Given the description of an element on the screen output the (x, y) to click on. 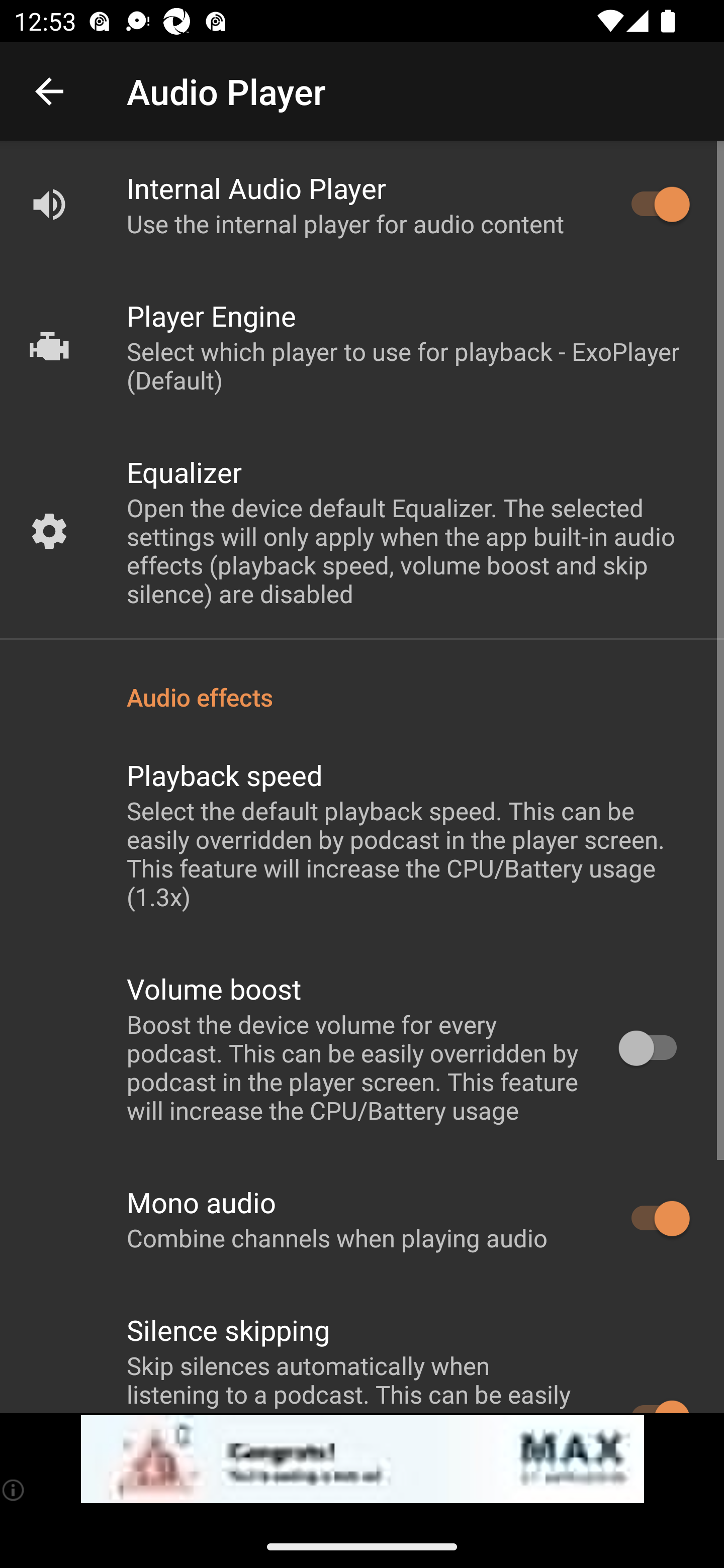
Navigate up (49, 91)
Mono audio Combine channels when playing audio (362, 1218)
app-monetization (362, 1459)
(i) (14, 1489)
